Given the description of an element on the screen output the (x, y) to click on. 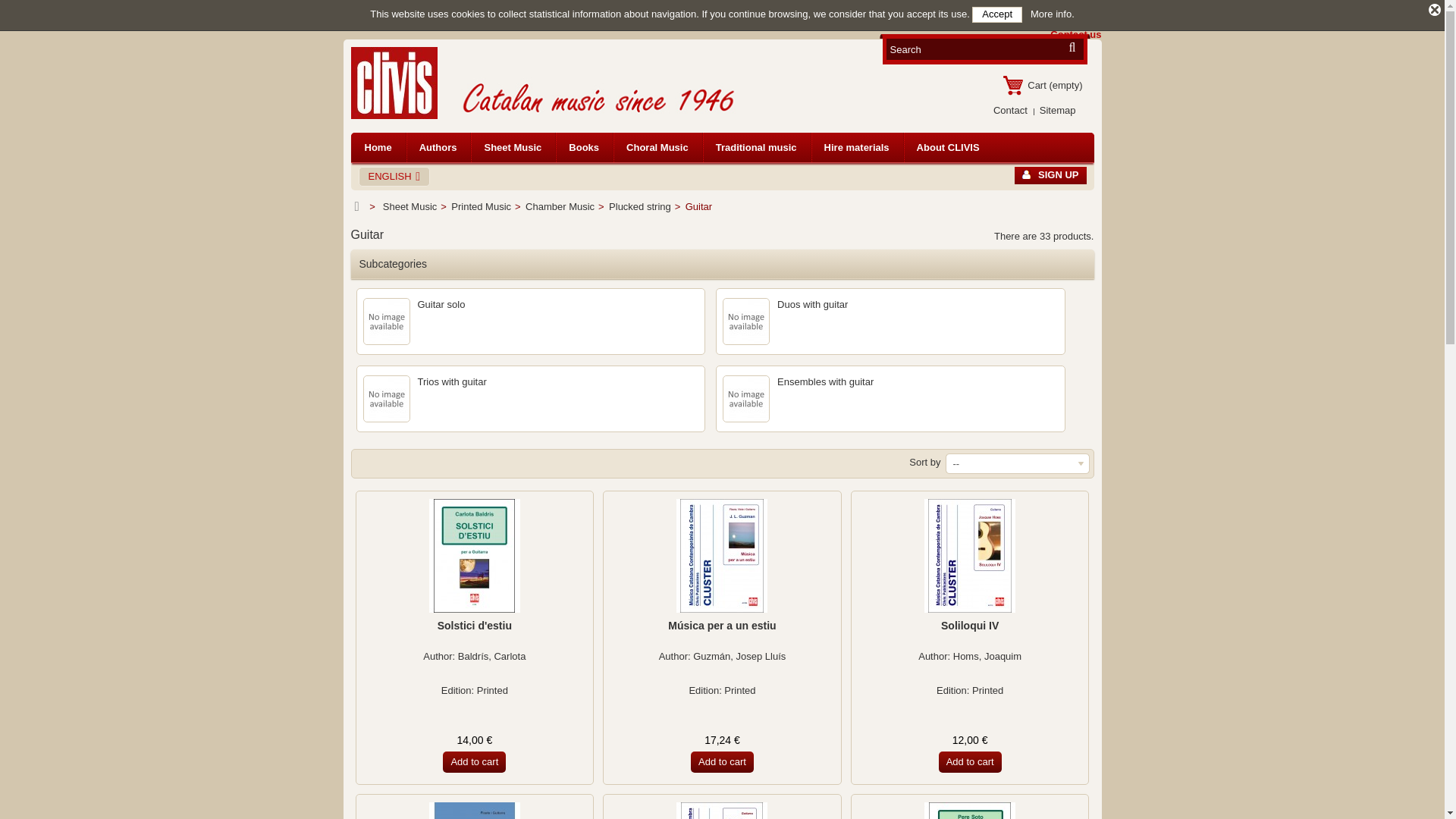
Sitemap (1057, 110)
SIGN UP (1050, 175)
Login to your customer account (1050, 175)
Authors (438, 147)
Home (377, 147)
Contact (1009, 110)
Contact us (1073, 34)
View my shopping cart (1048, 85)
Authors (438, 147)
Contact (1009, 110)
